Given the description of an element on the screen output the (x, y) to click on. 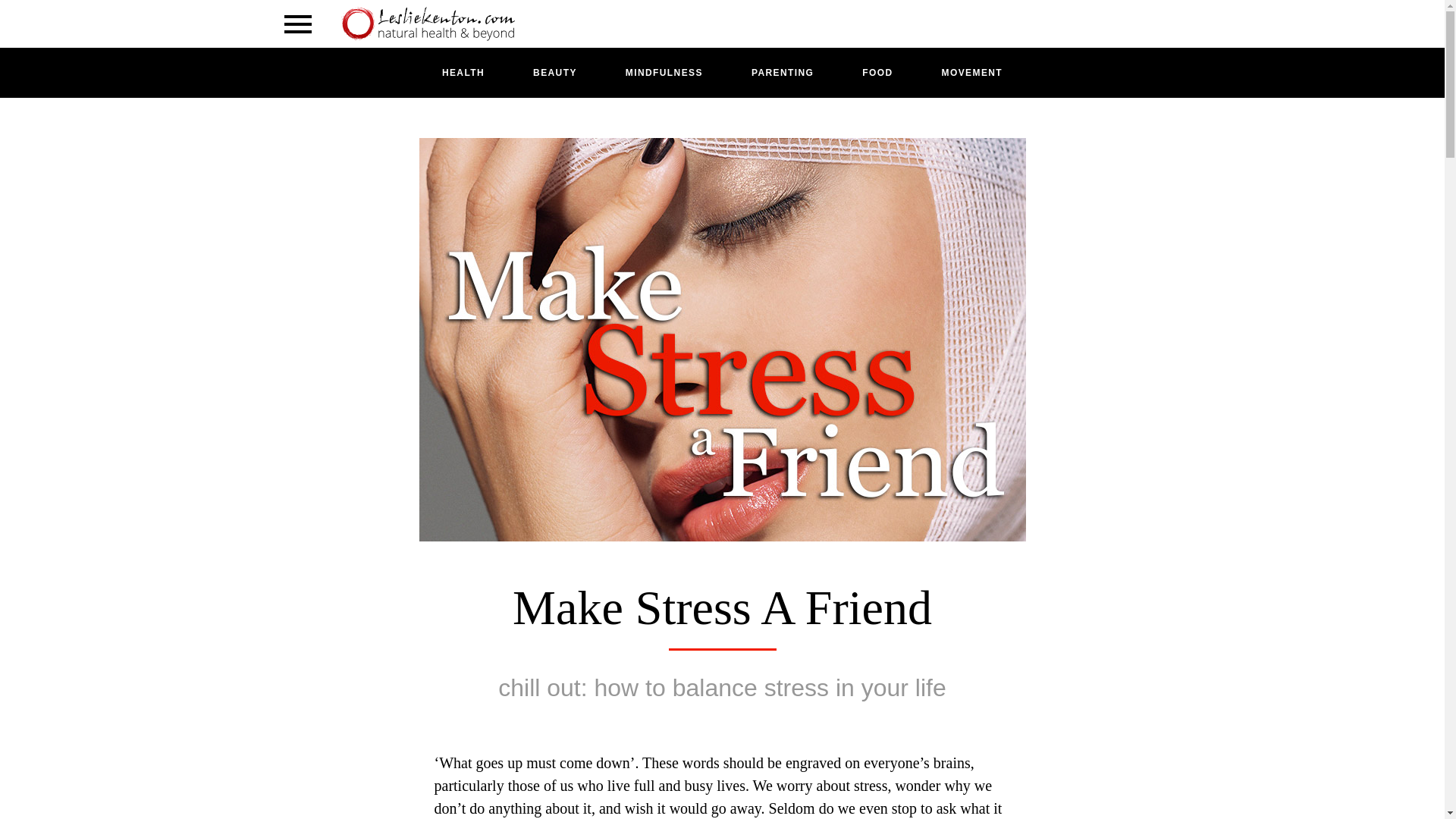
HEALTH (462, 72)
BEAUTY (554, 72)
MINDFULNESS (663, 72)
MOVEMENT (972, 72)
FOOD (877, 72)
PARENTING (782, 72)
